Given the description of an element on the screen output the (x, y) to click on. 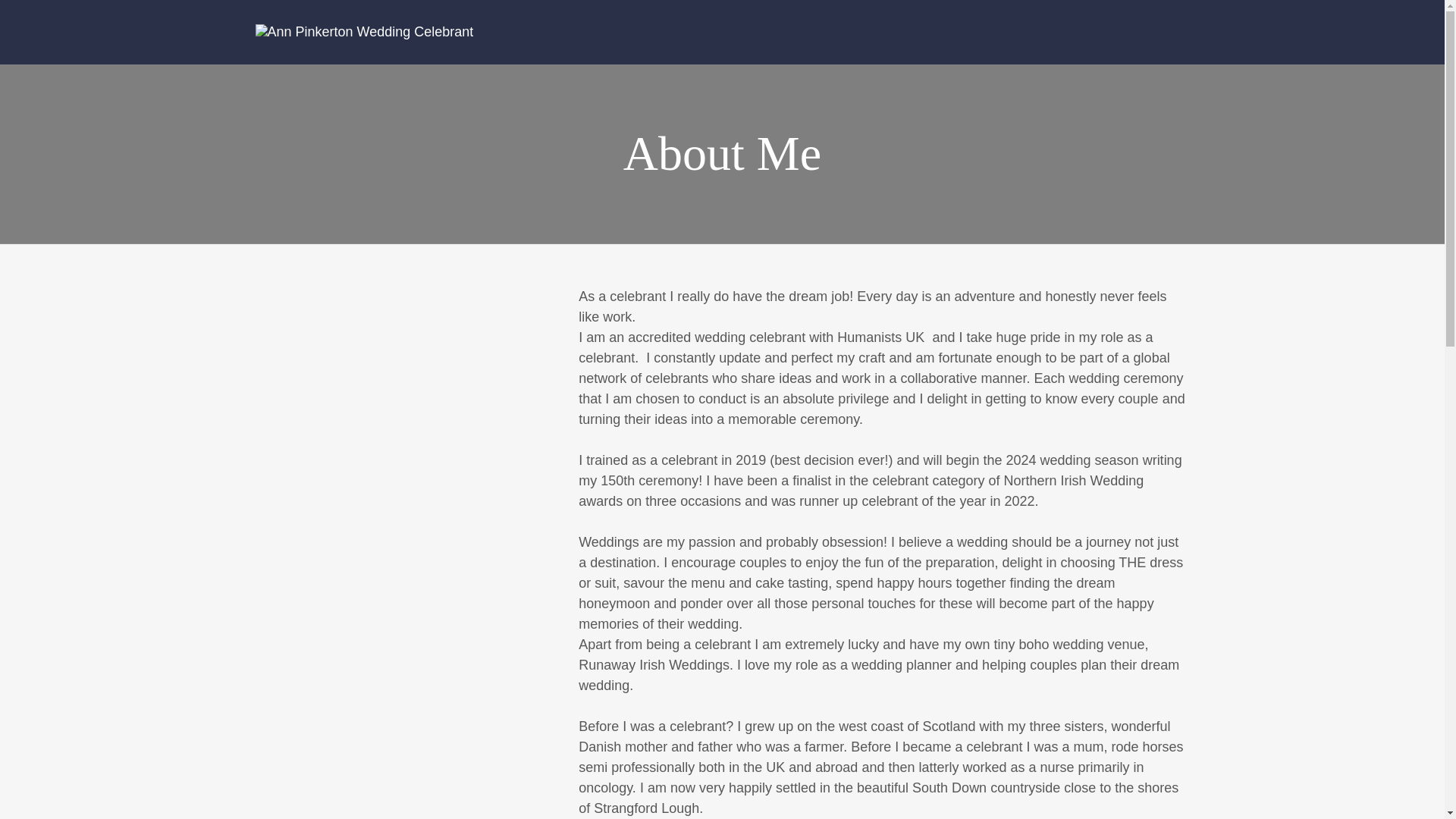
Ann Pinkerton  Wedding Celebrant (363, 31)
